Given the description of an element on the screen output the (x, y) to click on. 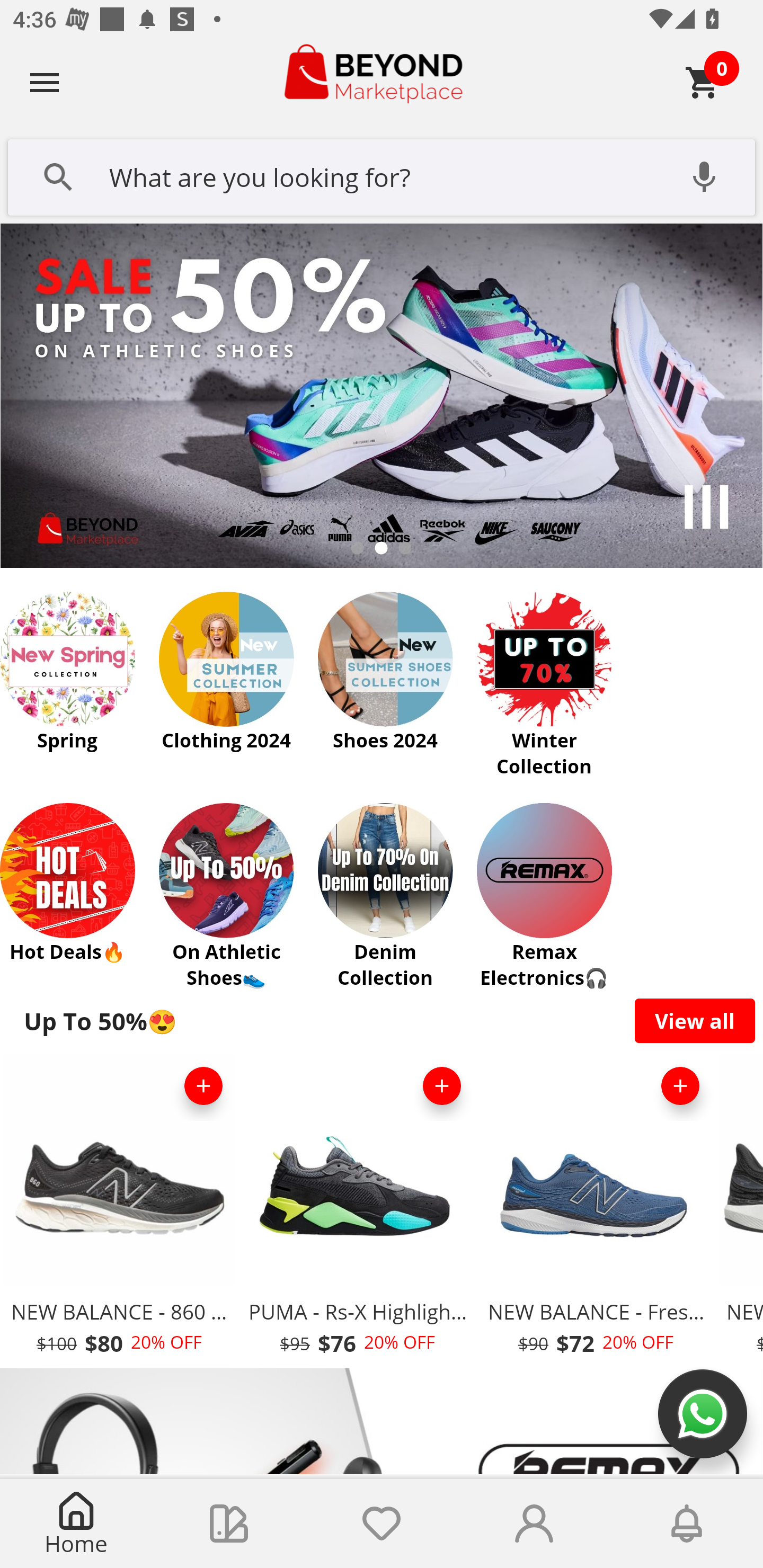
Navigate up (44, 82)
What are you looking for? (381, 175)
View all (694, 1020)
NEW BALANCE - 860 Running Shoes $100 $80 20% OFF (119, 1209)
Collections (228, 1523)
Wishlist (381, 1523)
Account (533, 1523)
Notifications (686, 1523)
